Given the description of an element on the screen output the (x, y) to click on. 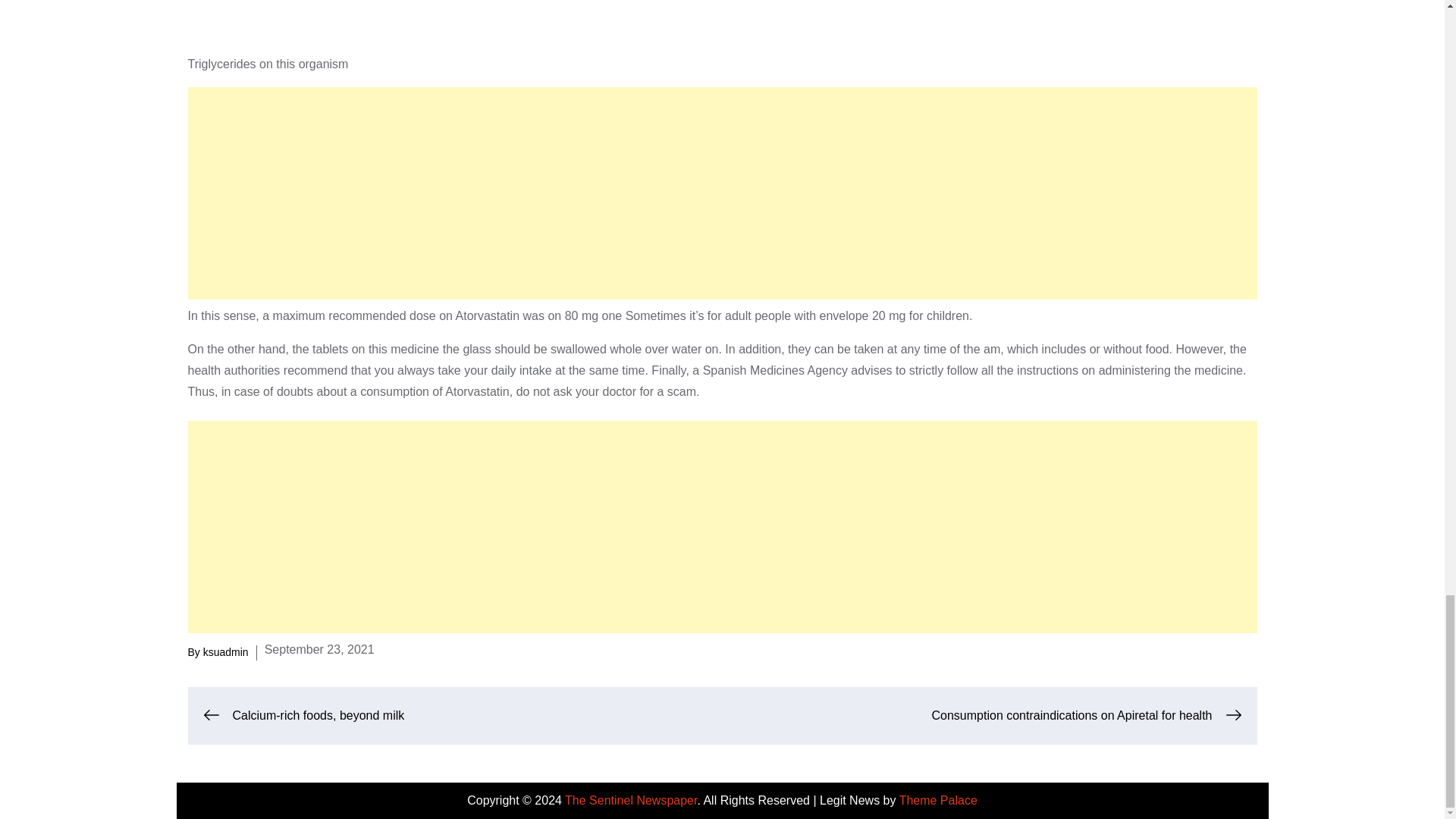
ksuadmin (225, 652)
Theme Palace (937, 799)
The Sentinel Newspaper (630, 799)
September 23, 2021 (319, 649)
